Given the description of an element on the screen output the (x, y) to click on. 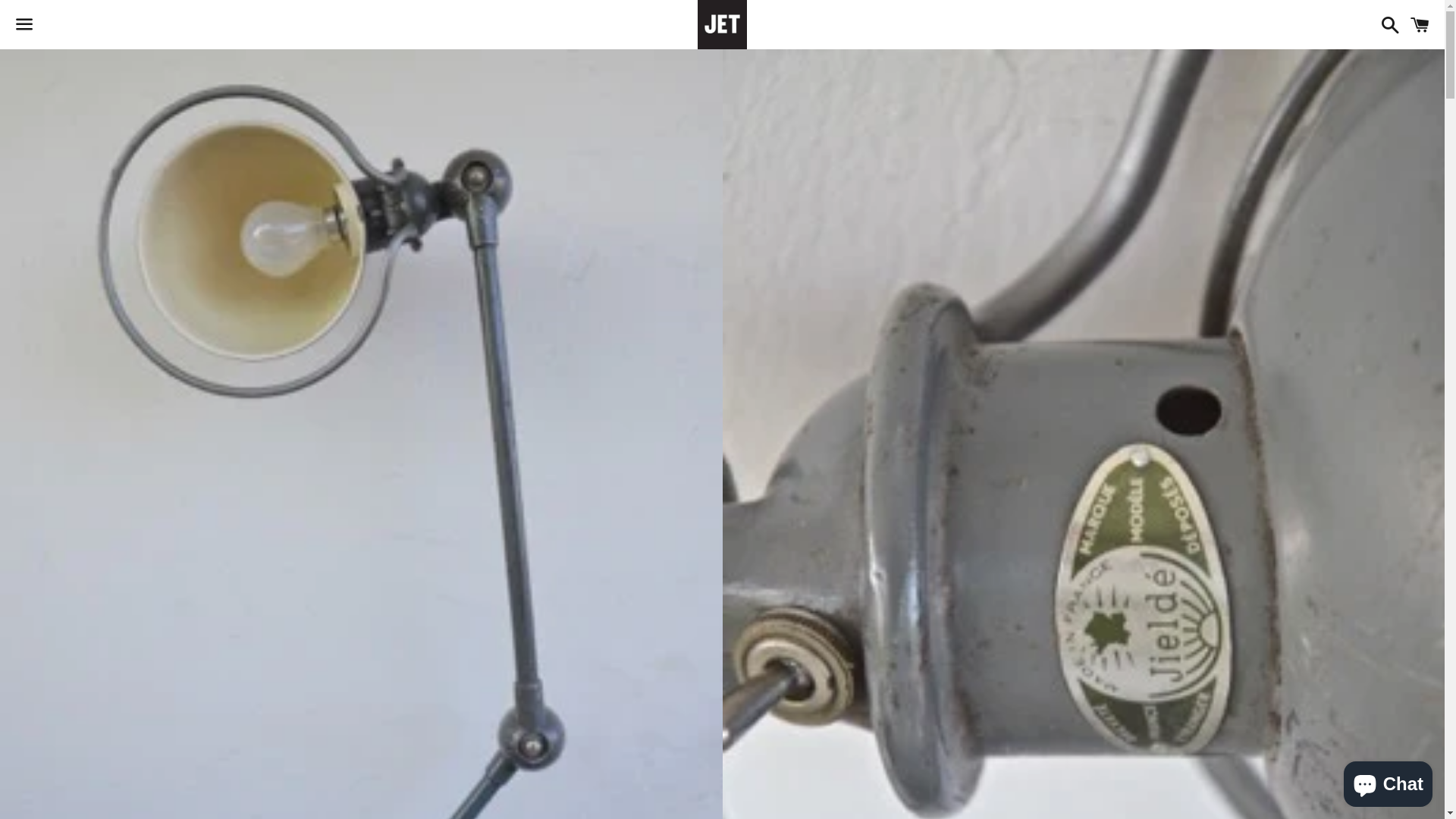
Menu Element type: text (24, 24)
Search Element type: text (1386, 24)
Cart Element type: text (1419, 24)
Shopify online store chat Element type: hover (1388, 780)
